Given the description of an element on the screen output the (x, y) to click on. 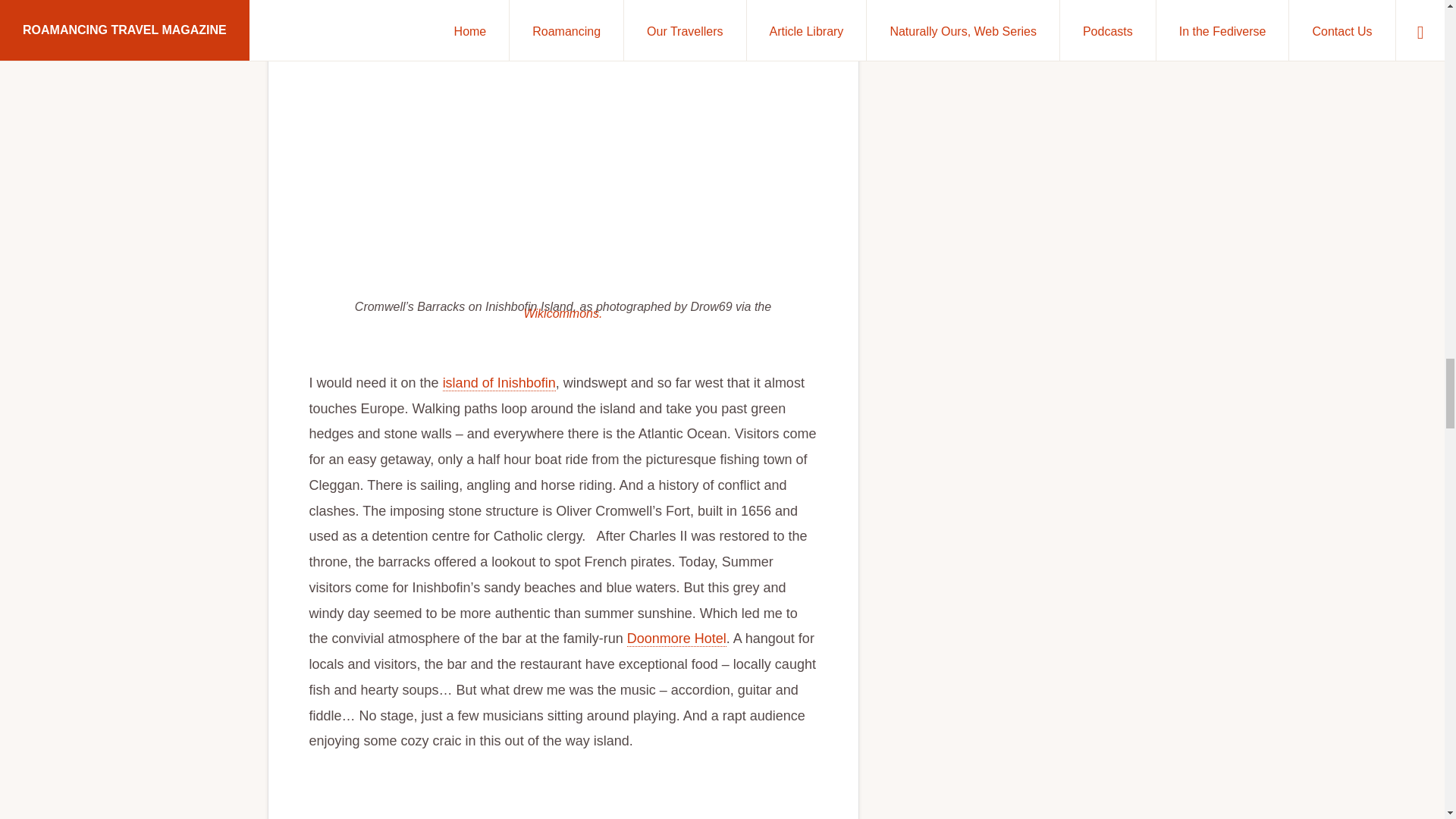
Wikicommons. (563, 313)
island of Inishbofin (499, 383)
Doonmore Hotel (676, 638)
